Given the description of an element on the screen output the (x, y) to click on. 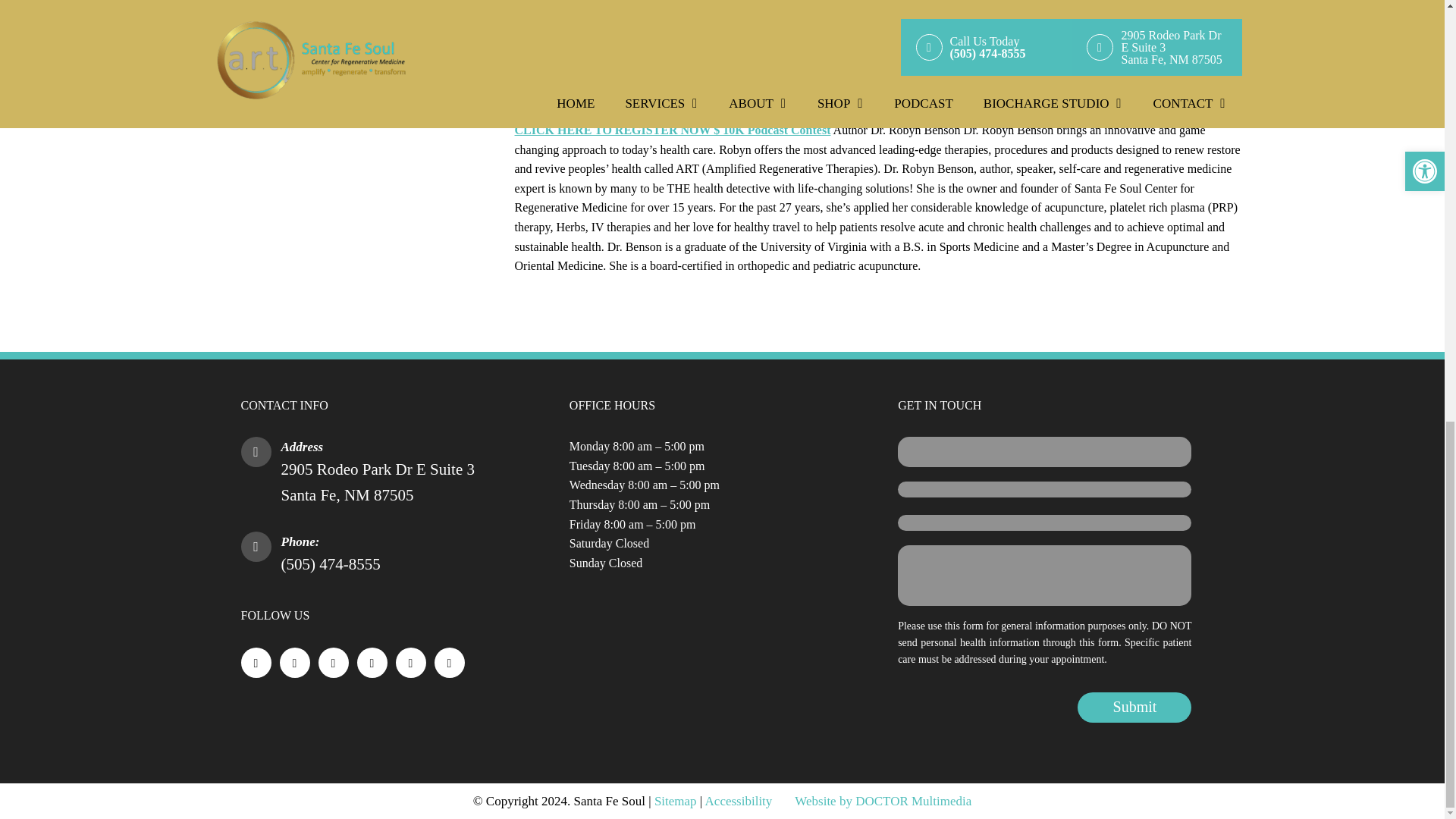
Submit (1134, 707)
